Given the description of an element on the screen output the (x, y) to click on. 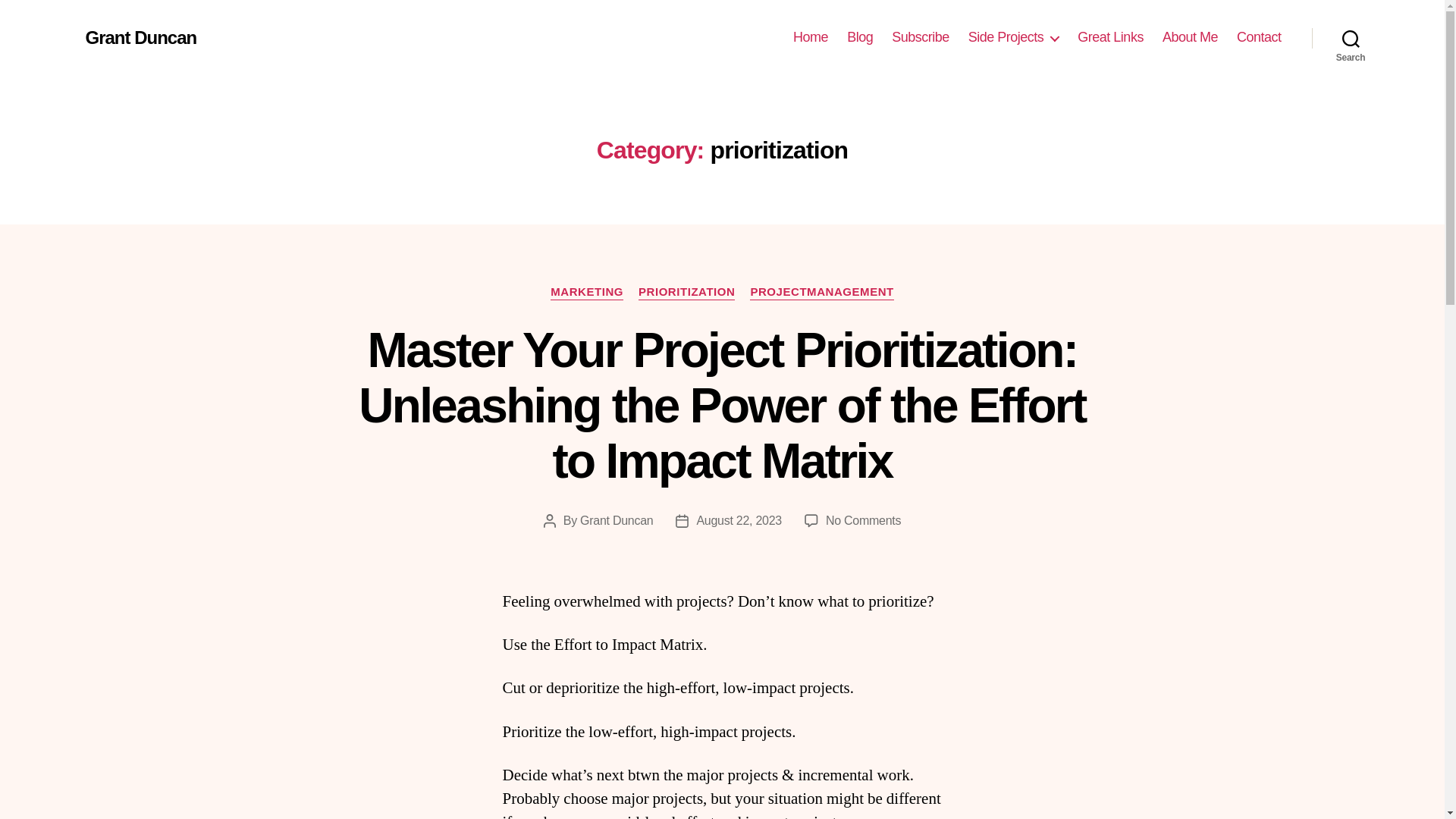
Great Links (1109, 37)
Grant Duncan (615, 520)
Home (810, 37)
Contact (1258, 37)
Side Projects (1013, 37)
PROJECTMANAGEMENT (821, 292)
About Me (1189, 37)
August 22, 2023 (738, 520)
Blog (859, 37)
PRIORITIZATION (687, 292)
Search (1350, 37)
Subscribe (920, 37)
MARKETING (586, 292)
